Given the description of an element on the screen output the (x, y) to click on. 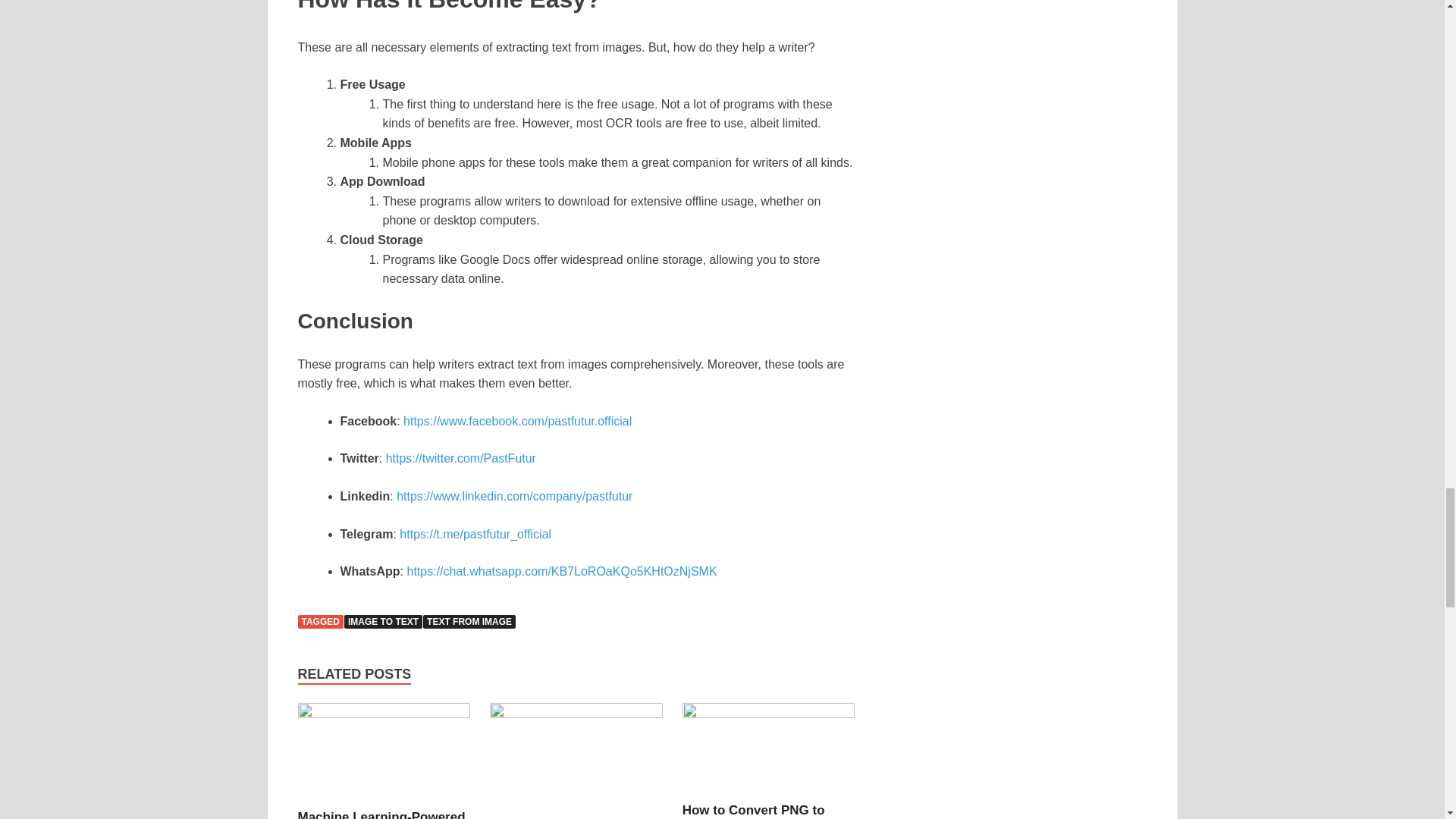
TEXT FROM IMAGE (469, 621)
IMAGE TO TEXT (382, 621)
